Given the description of an element on the screen output the (x, y) to click on. 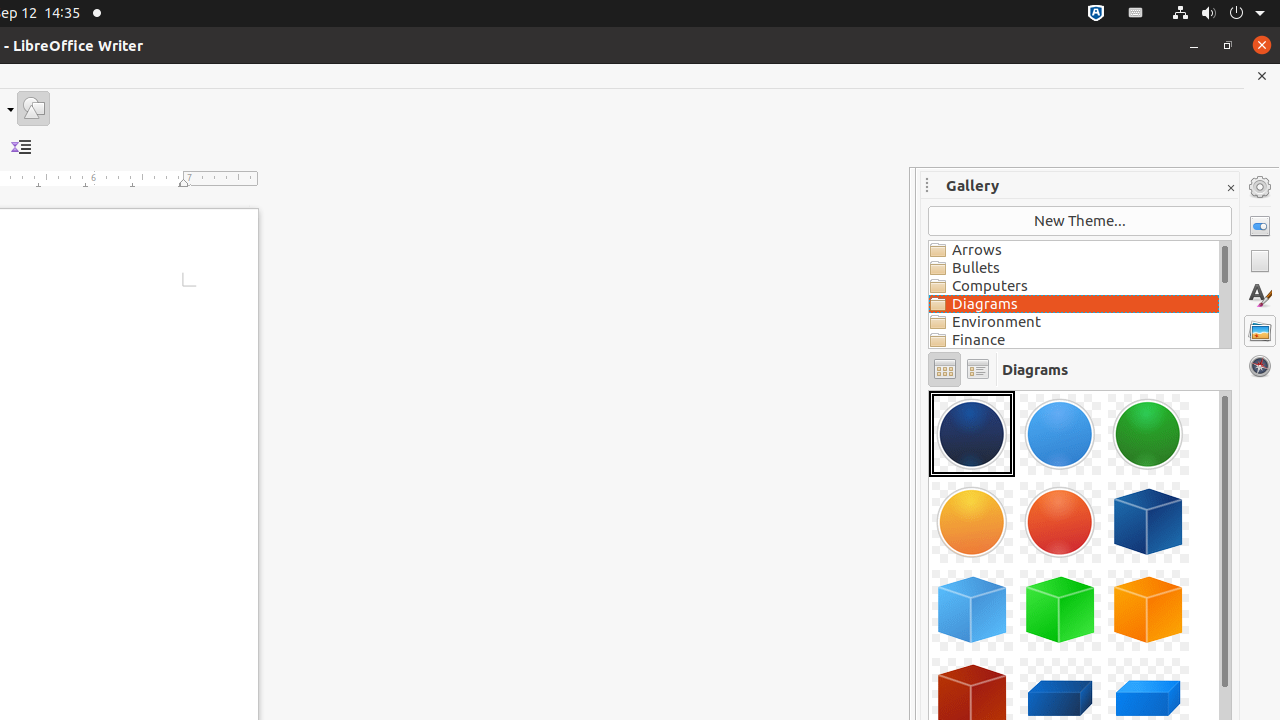
Arrows Element type: list-item (1074, 249)
Diagrams Element type: list-item (1074, 304)
Gallery Element type: radio-button (1260, 331)
Bullets Element type: list-item (1074, 268)
Page Element type: radio-button (1260, 261)
